Given the description of an element on the screen output the (x, y) to click on. 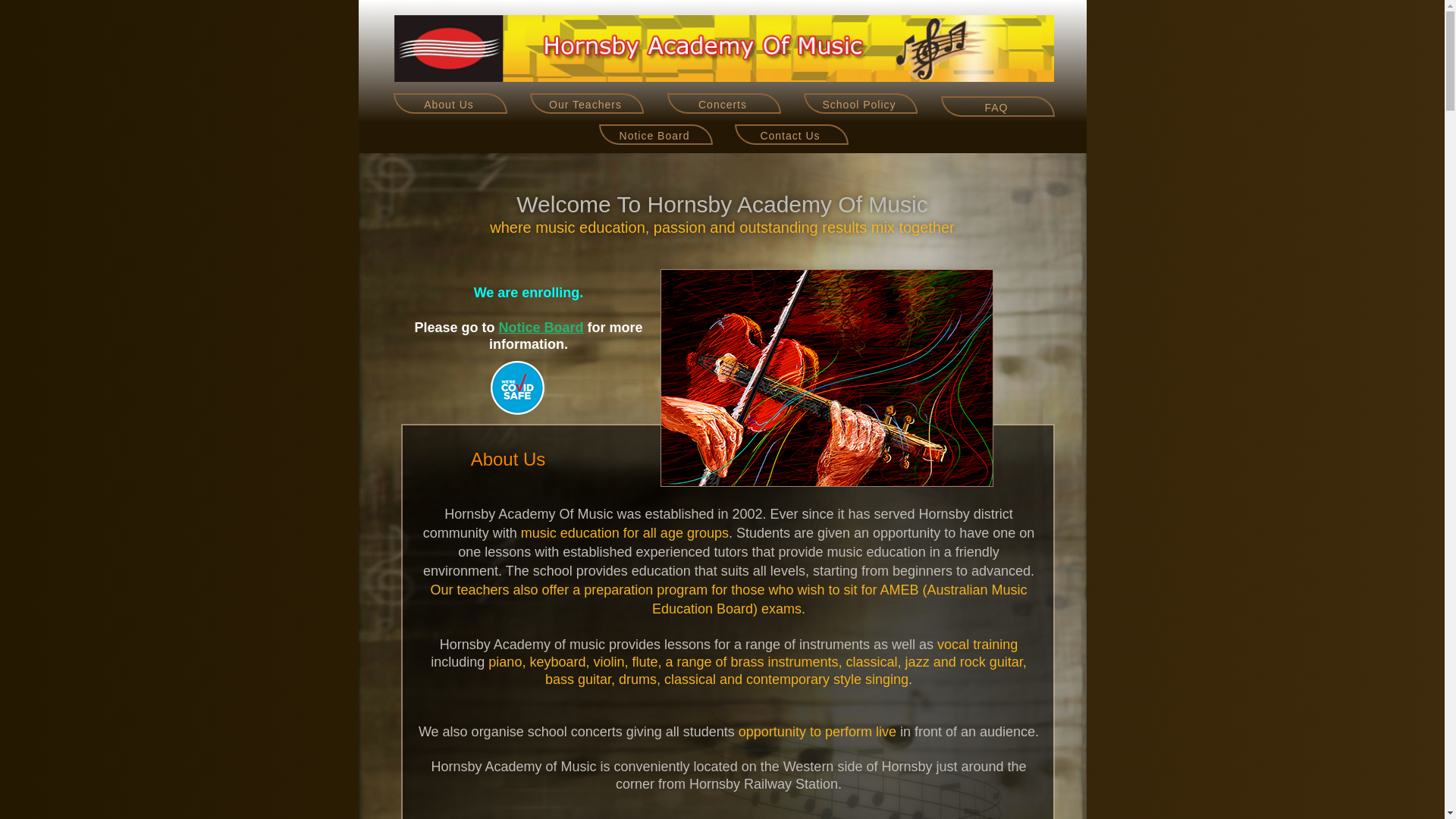
Contact Us Element type: text (790, 134)
Notice Board Element type: text (540, 327)
FAQ Element type: text (997, 106)
Concerts Element type: text (724, 103)
School Policy Element type: text (860, 103)
About Us Element type: text (449, 103)
Our Teachers Element type: text (586, 103)
Notice Board Element type: text (654, 135)
